Given the description of an element on the screen output the (x, y) to click on. 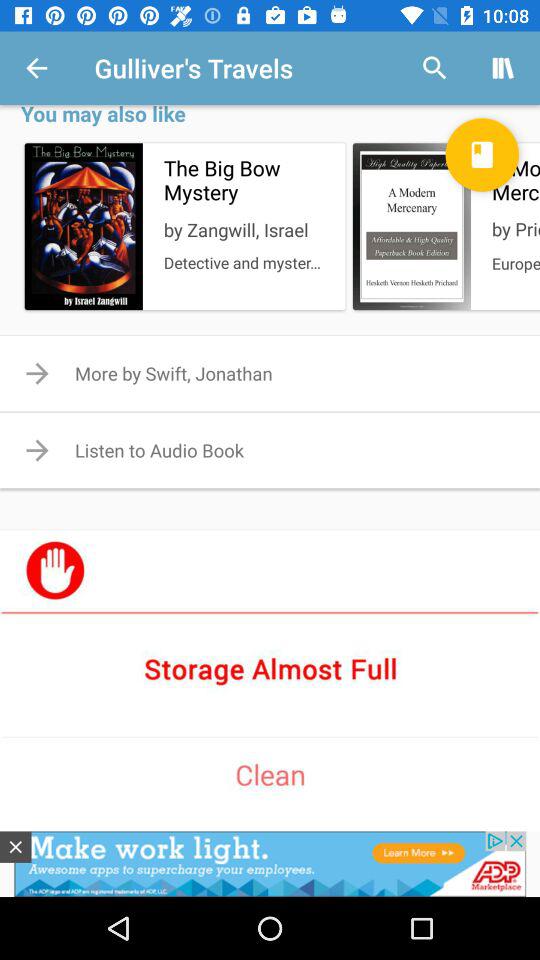
close advertisement (15, 846)
